Given the description of an element on the screen output the (x, y) to click on. 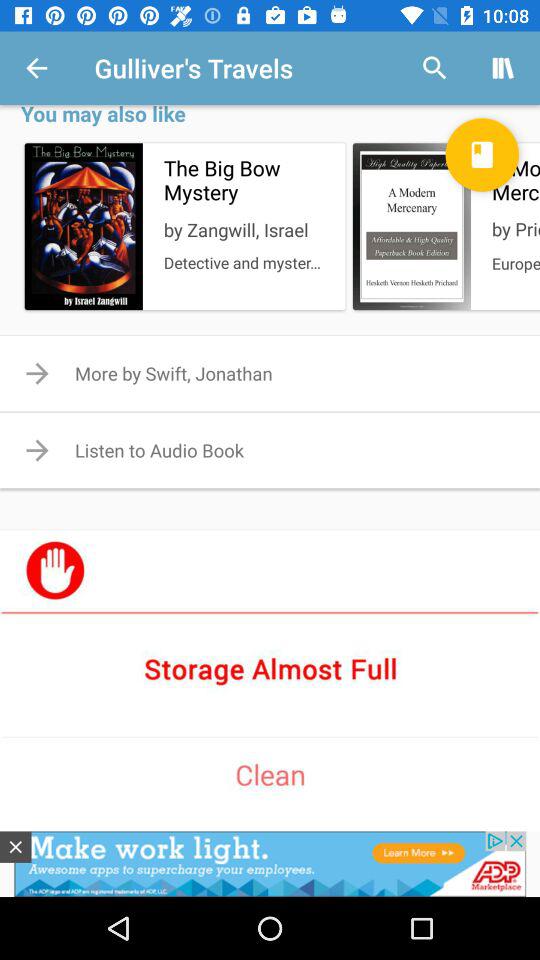
close advertisement (15, 846)
